Given the description of an element on the screen output the (x, y) to click on. 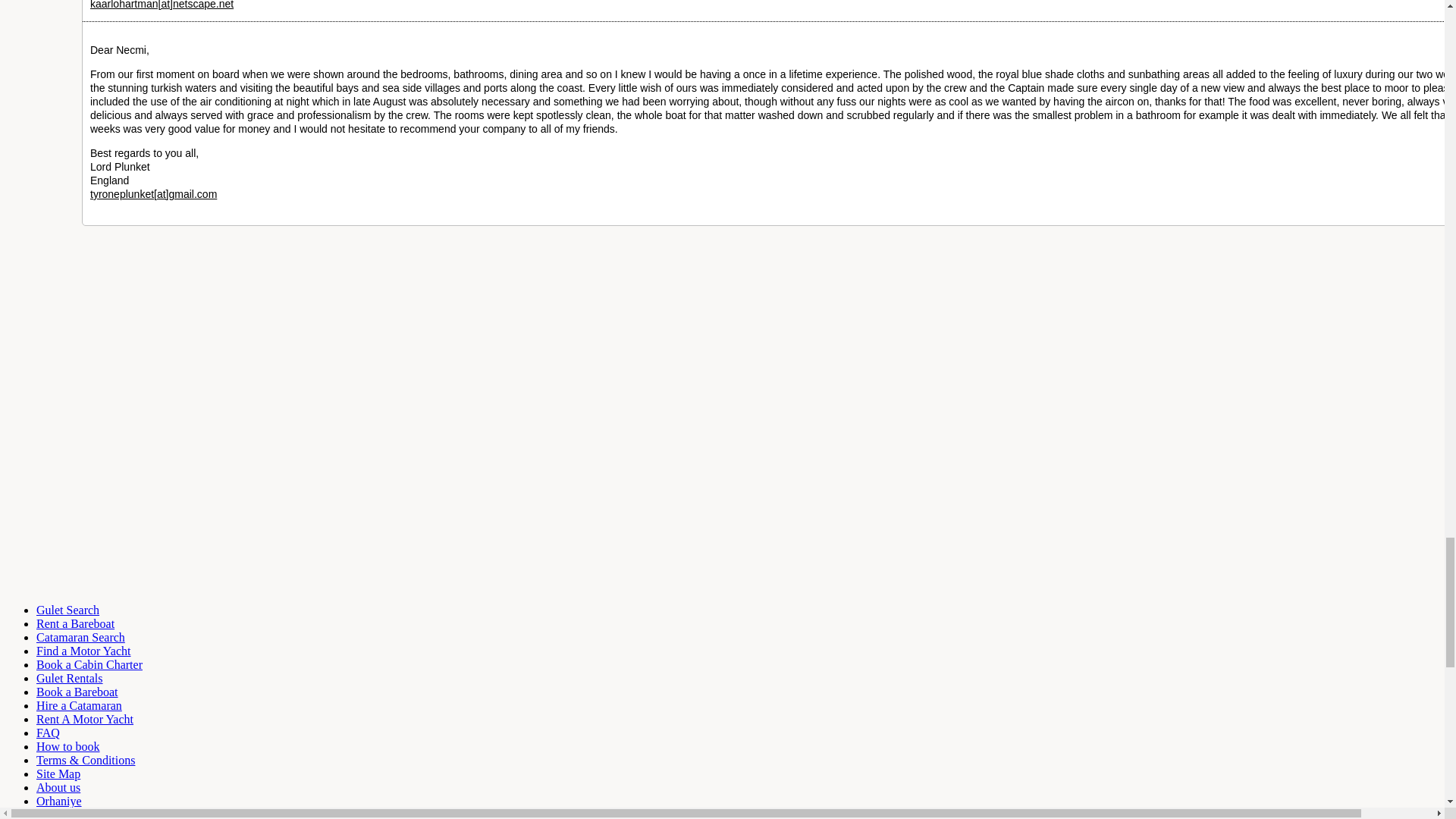
Catamaran Search (80, 636)
Gulet Fleet (83, 650)
Book a Bareboat (76, 691)
Gulet Search (67, 609)
FAQ (47, 732)
Rent a Bareboat (75, 623)
Rent A Motor Yacht (84, 718)
Gulet Rentals (69, 677)
Gulet Fleet (80, 636)
Book a Cabin Charter (89, 664)
